Given the description of an element on the screen output the (x, y) to click on. 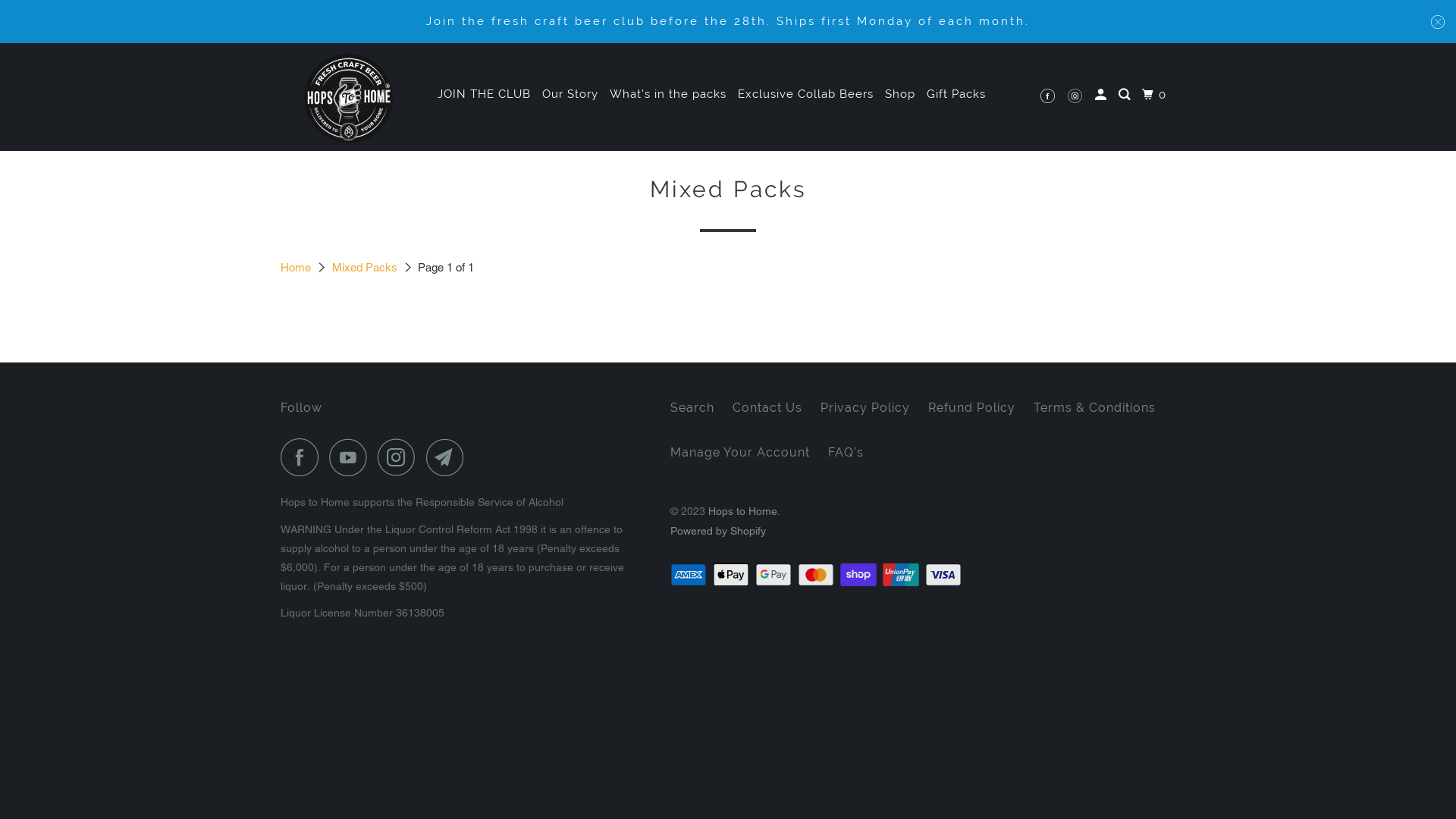
Powered by Shopify Element type: text (717, 530)
My Account  Element type: hover (1102, 95)
Email Hops to Home Element type: hover (448, 457)
Hops to Home Element type: text (742, 511)
Our Story Element type: text (570, 94)
Exclusive Collab Beers Element type: text (805, 94)
Shop Element type: text (899, 94)
JOIN THE CLUB Element type: text (483, 94)
Manage Your Account Element type: text (739, 452)
Search Element type: hover (1125, 95)
Hops to Home on Instagram Element type: hover (1076, 96)
Hops to Home on Facebook Element type: hover (1049, 96)
Contact Us Element type: text (767, 407)
Hops to Home Element type: hover (348, 96)
Terms & Conditions Element type: text (1094, 407)
Hops to Home on Instagram Element type: hover (400, 457)
0 Element type: text (1156, 95)
Search Element type: text (692, 407)
Gift Packs Element type: text (955, 94)
Hops to Home on Facebook Element type: hover (303, 457)
Privacy Policy Element type: text (865, 407)
Mixed Packs Element type: text (366, 266)
Hops to Home on YouTube Element type: hover (351, 457)
Refund Policy Element type: text (971, 407)
FAQ's Element type: text (845, 452)
What's in the packs Element type: text (667, 94)
Home Element type: text (296, 266)
